Given the description of an element on the screen output the (x, y) to click on. 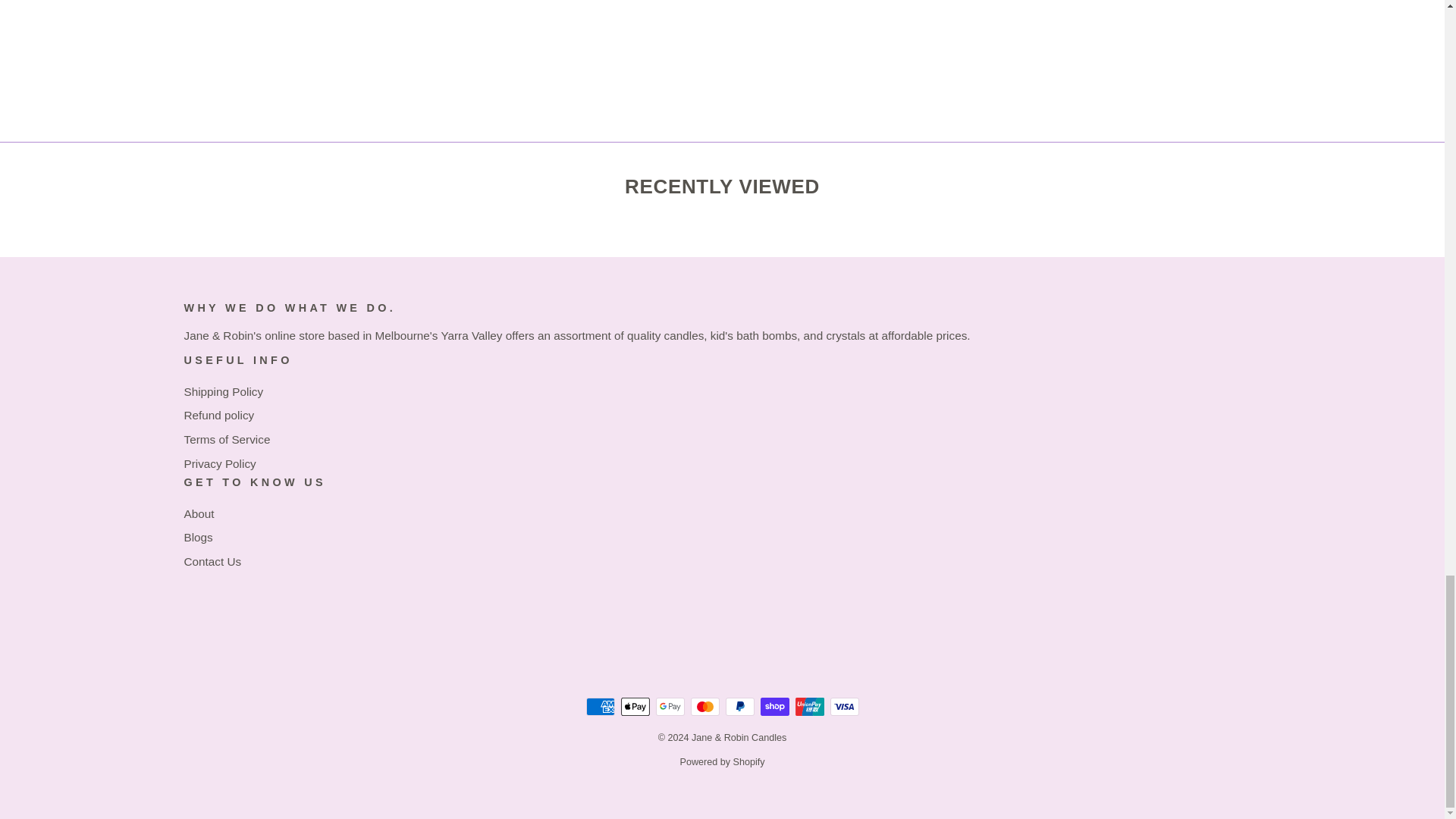
American Express (599, 706)
PayPal (739, 706)
Apple Pay (634, 706)
Shop Pay (774, 706)
Google Pay (669, 706)
Mastercard (704, 706)
